Given the description of an element on the screen output the (x, y) to click on. 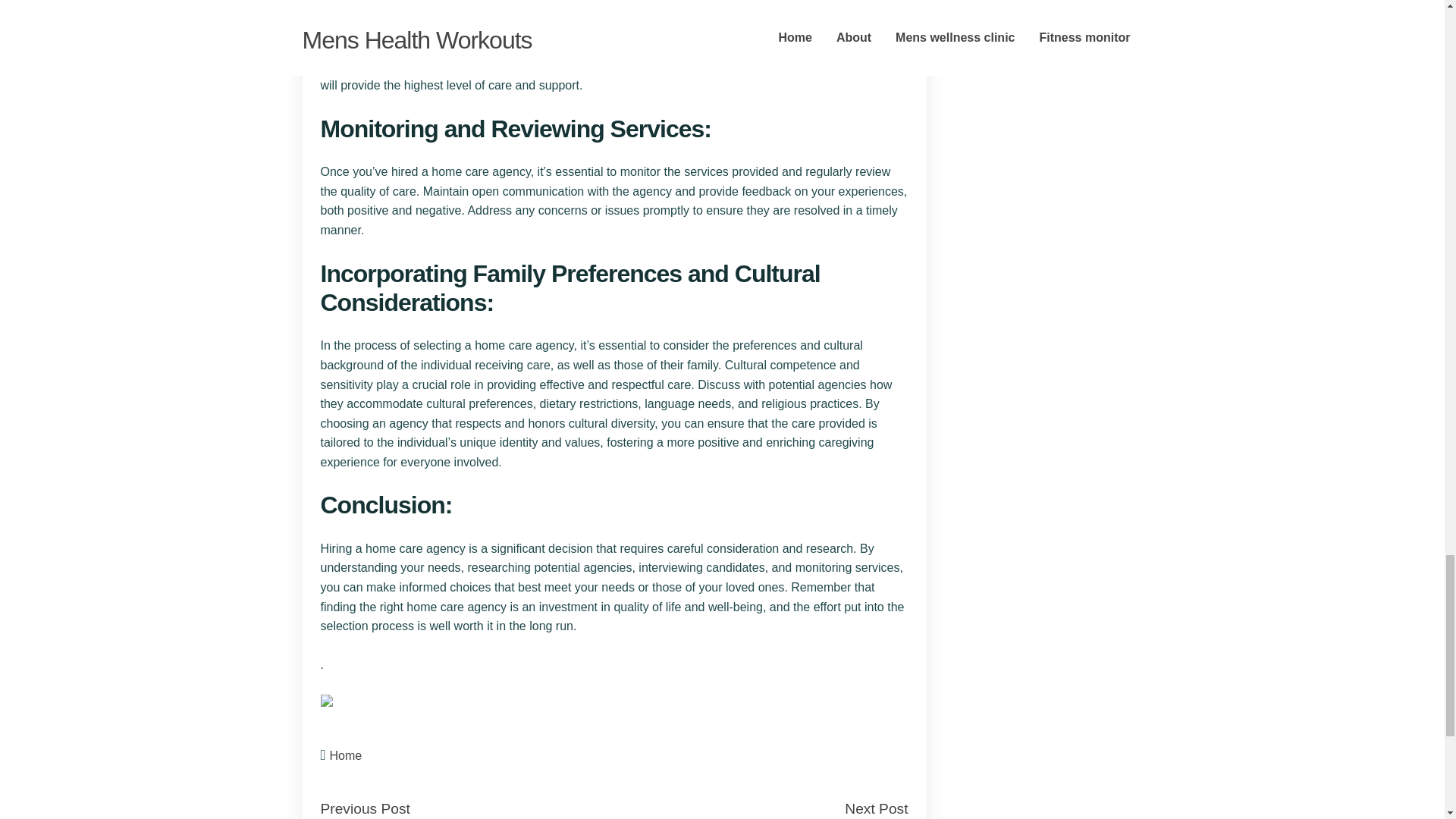
Previous Post (364, 808)
Home (346, 755)
Next Post (875, 808)
